Given the description of an element on the screen output the (x, y) to click on. 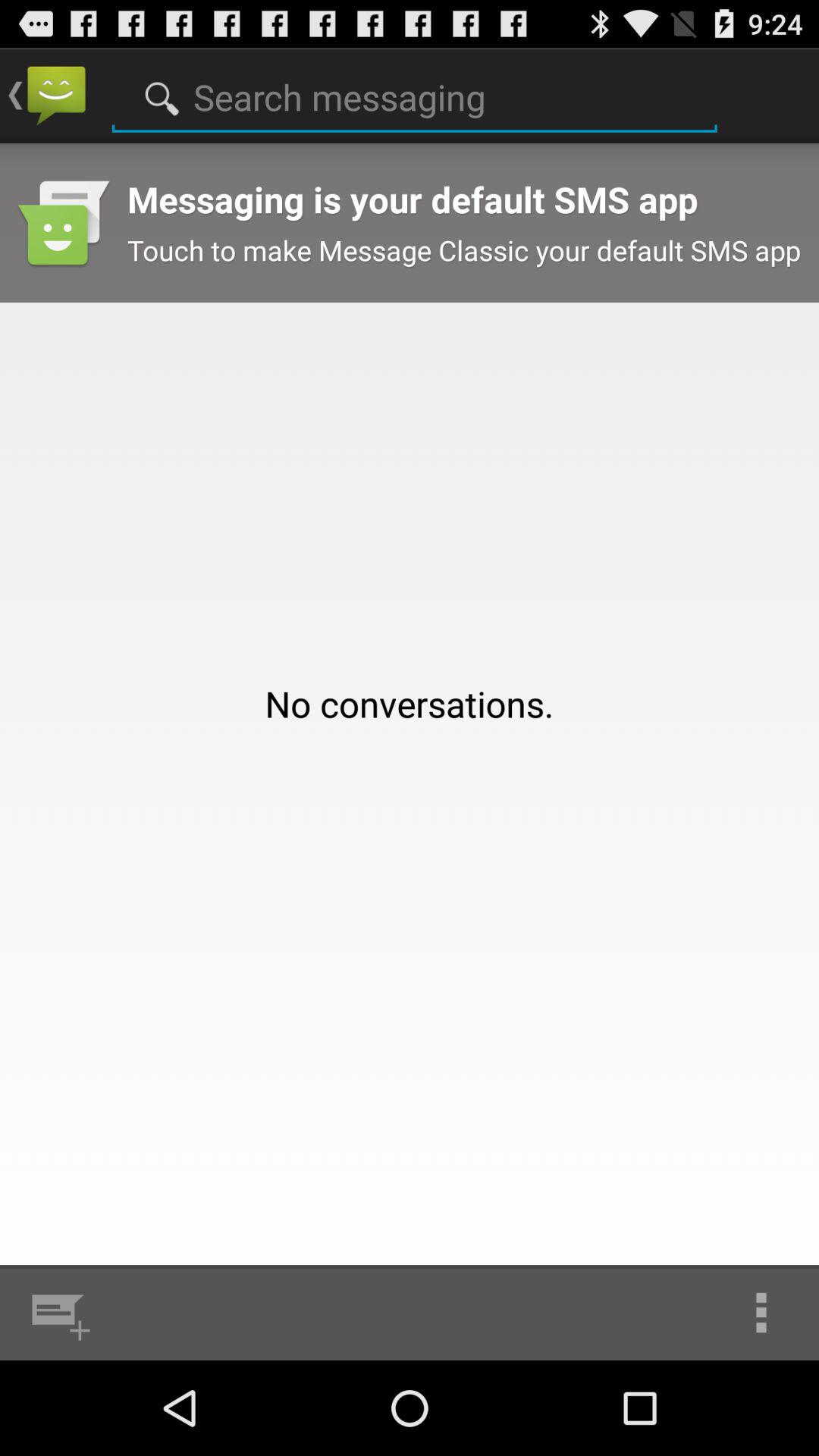
choose the app above no conversations. icon (414, 93)
